Given the description of an element on the screen output the (x, y) to click on. 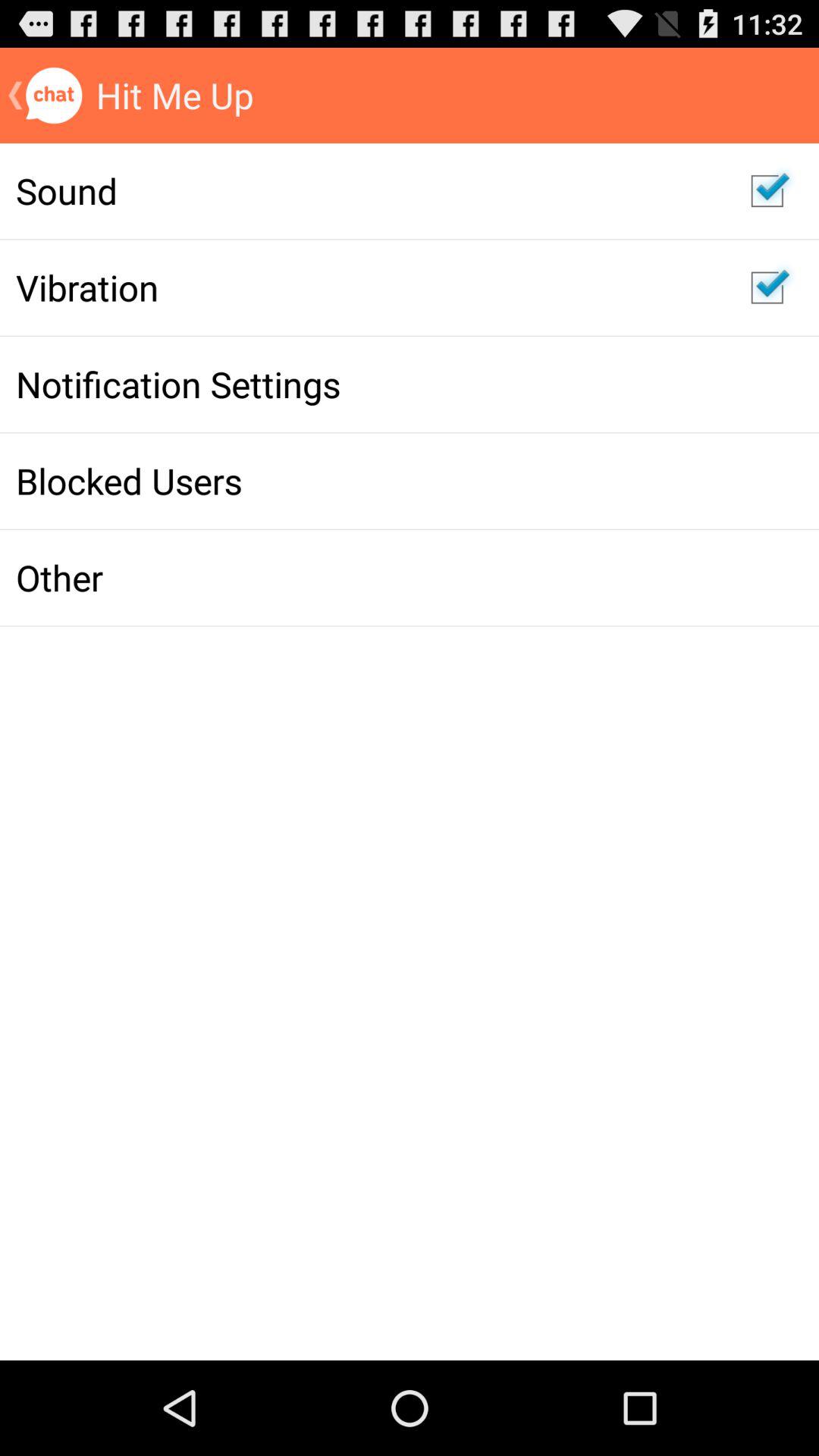
tap the notification settings item (367, 384)
